Given the description of an element on the screen output the (x, y) to click on. 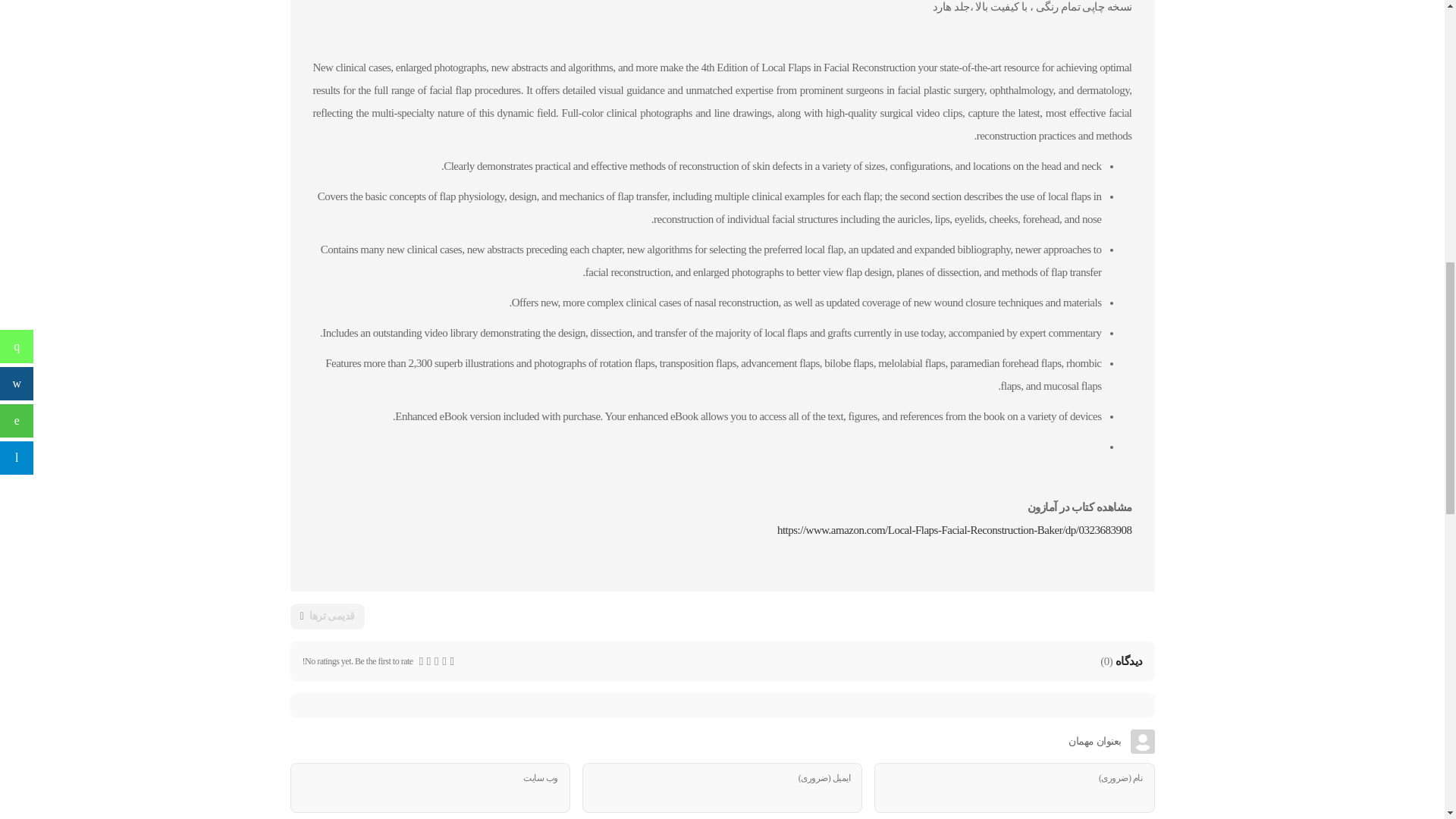
Not rated yet! (428, 661)
Not rated yet! (436, 661)
Back to Top (1406, 30)
Not rated yet! (443, 661)
Not rated yet! (435, 661)
Not rated yet! (451, 661)
Not rated yet! (421, 661)
